Given the description of an element on the screen output the (x, y) to click on. 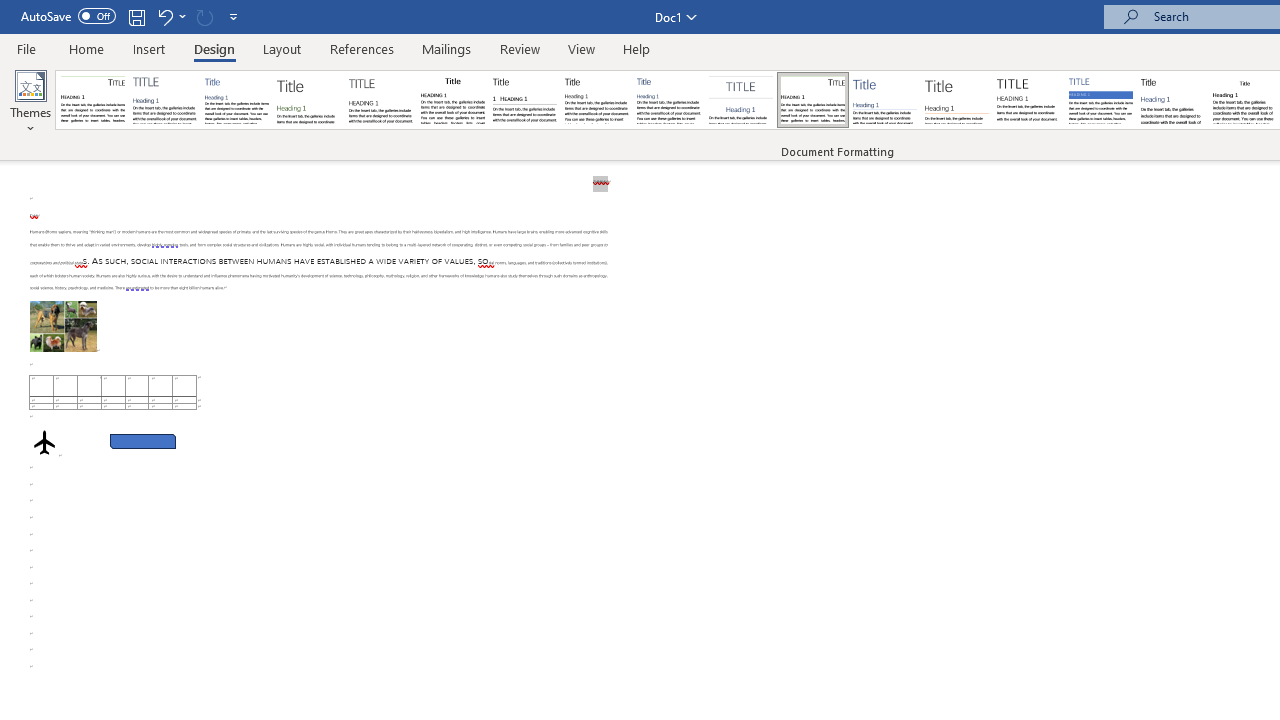
Black & White (Capitalized) (381, 100)
Document (93, 100)
Minimalist (1028, 100)
AutoSave (68, 16)
View (582, 48)
Undo Apply Quick Style Set (170, 15)
Quick Access Toolbar (131, 16)
Review (520, 48)
System (10, 11)
Shaded (1100, 100)
System (10, 11)
